Given the description of an element on the screen output the (x, y) to click on. 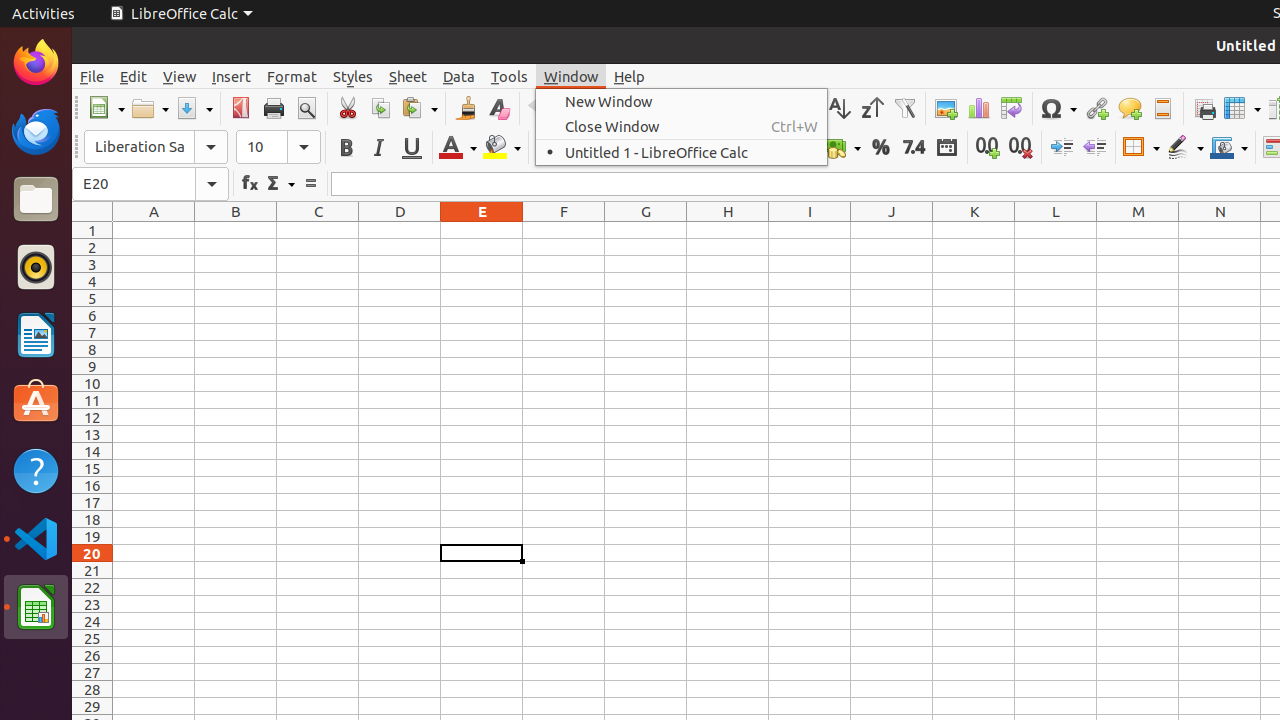
E1 Element type: table-cell (482, 230)
Window Element type: menu (571, 76)
Percent Element type: push-button (880, 147)
Styles Element type: menu (353, 76)
Borders (Shift to overwrite) Element type: push-button (1141, 147)
